Given the description of an element on the screen output the (x, y) to click on. 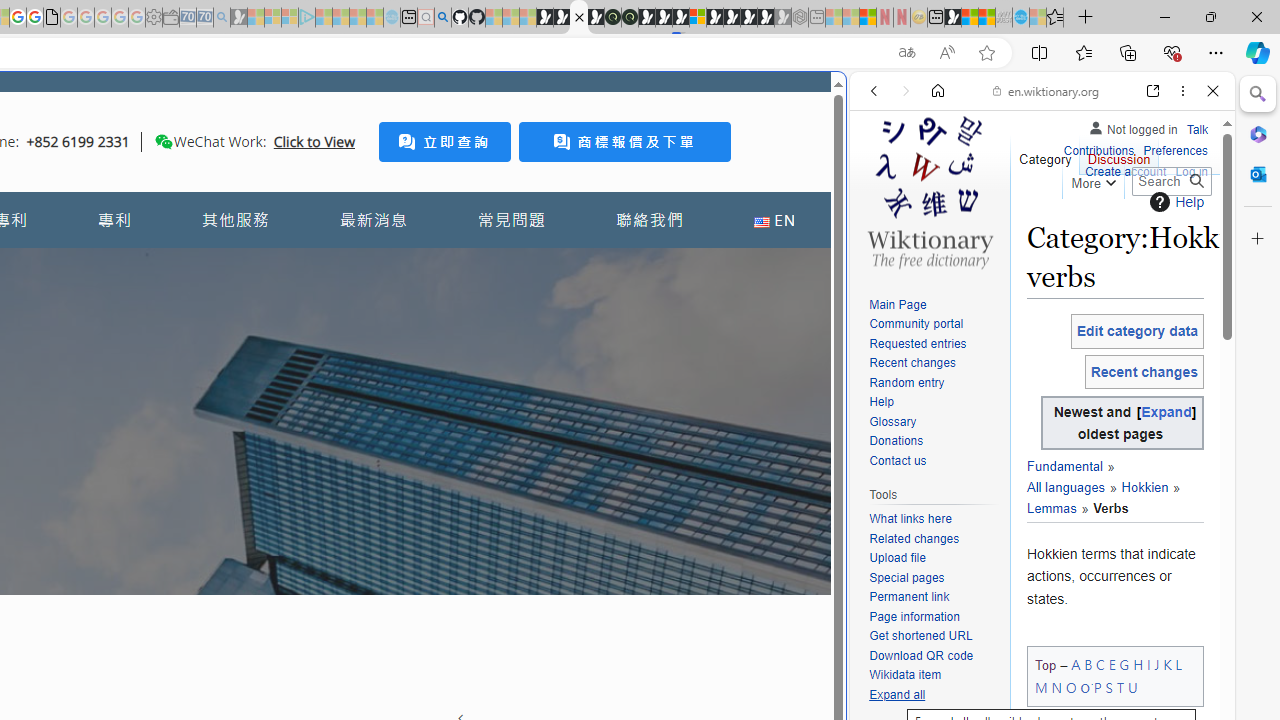
Fundamental (1064, 467)
Upload file (897, 557)
P (1097, 687)
Category (1045, 154)
